Given the description of an element on the screen output the (x, y) to click on. 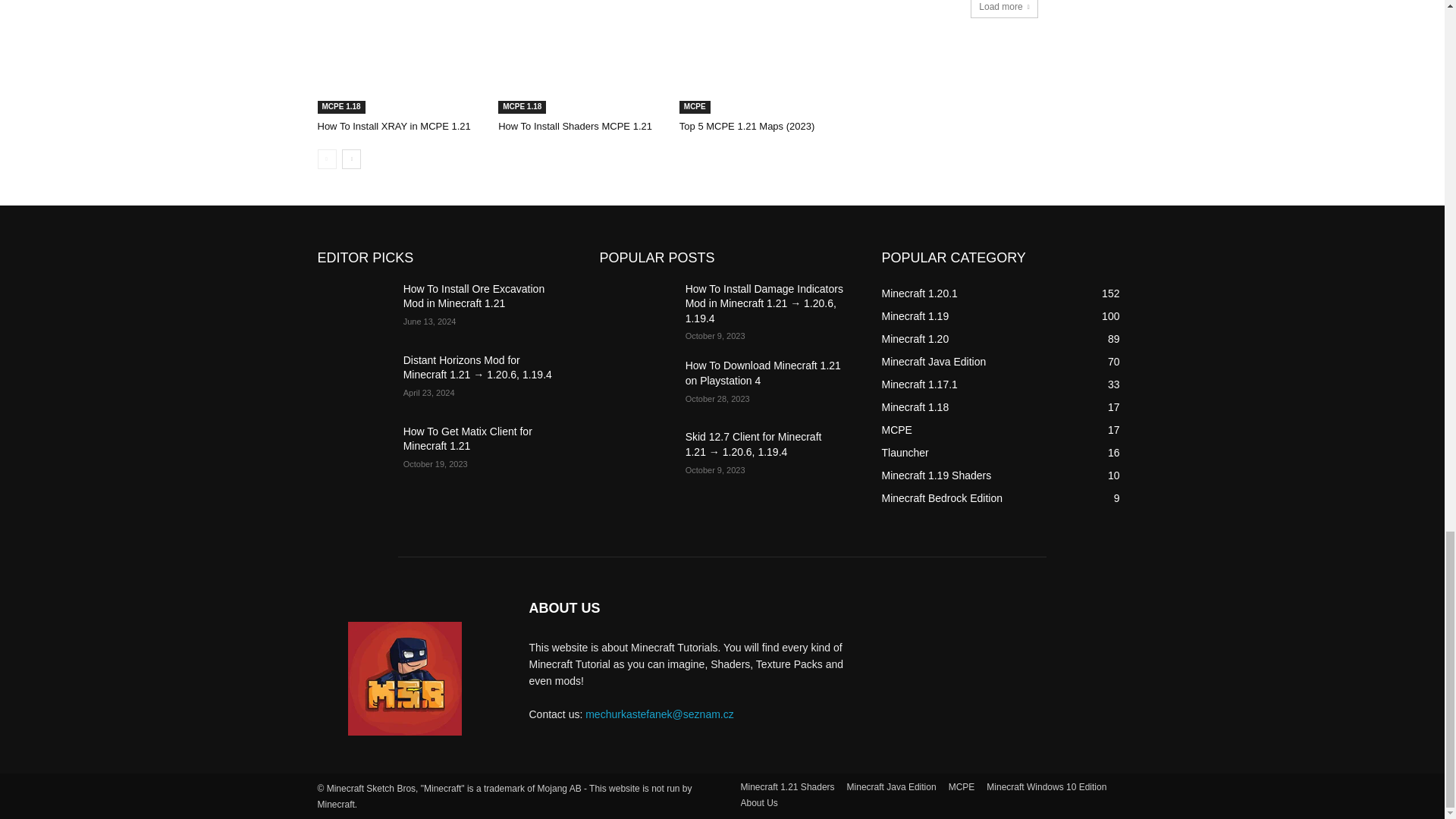
How To Install Shaders MCPE 1.21 (574, 125)
How To Install Shaders MCPE 1.21 (580, 56)
How To Install XRAY in MCPE 1.21 (400, 56)
How To Install XRAY in MCPE 1.21 (393, 125)
